Given the description of an element on the screen output the (x, y) to click on. 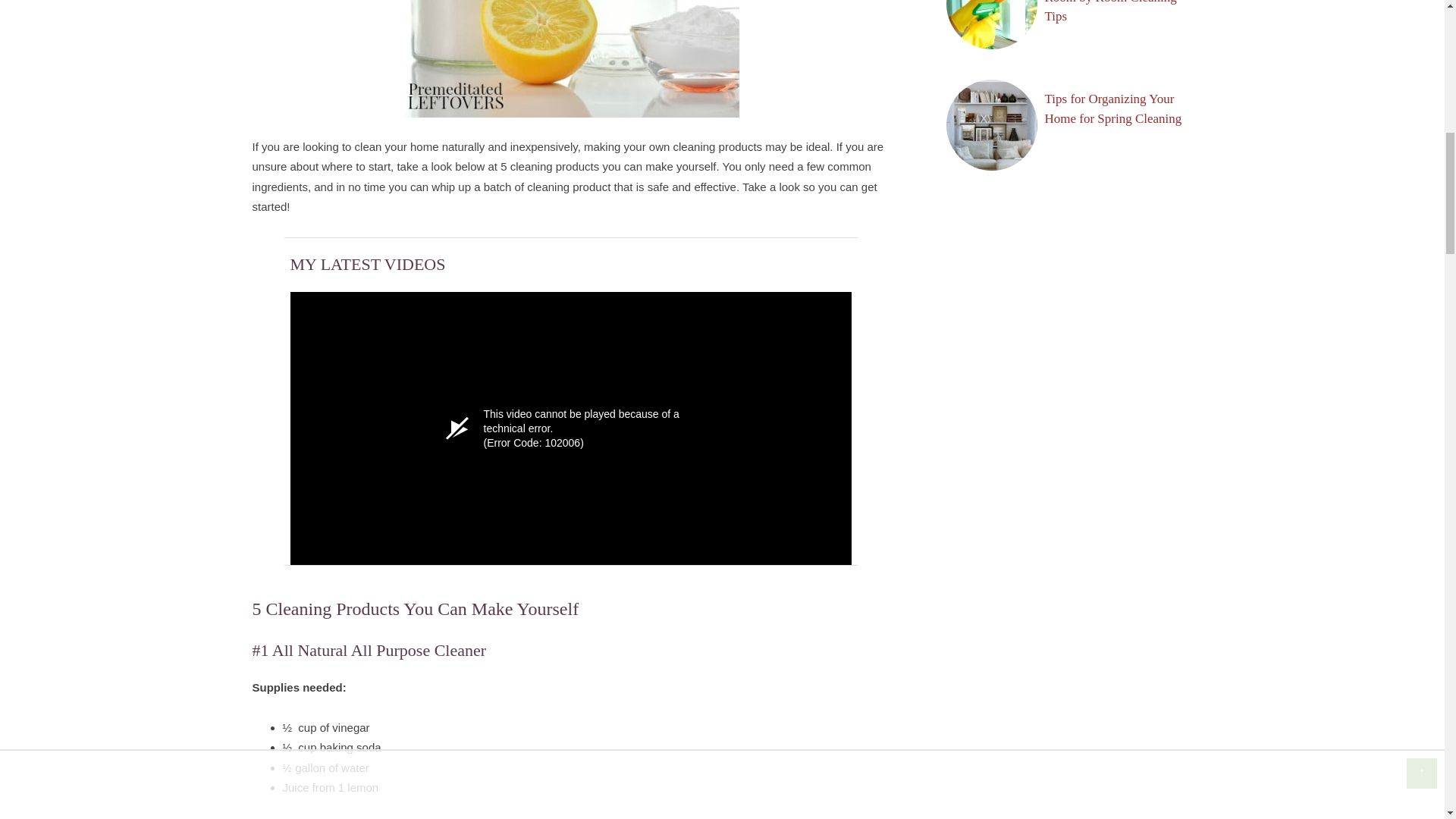
Tips for Organizing Your Home for Spring Cleaning (1113, 108)
Spring Cleaning Checklists Room by Room Cleaning Tips (1115, 16)
